Given the description of an element on the screen output the (x, y) to click on. 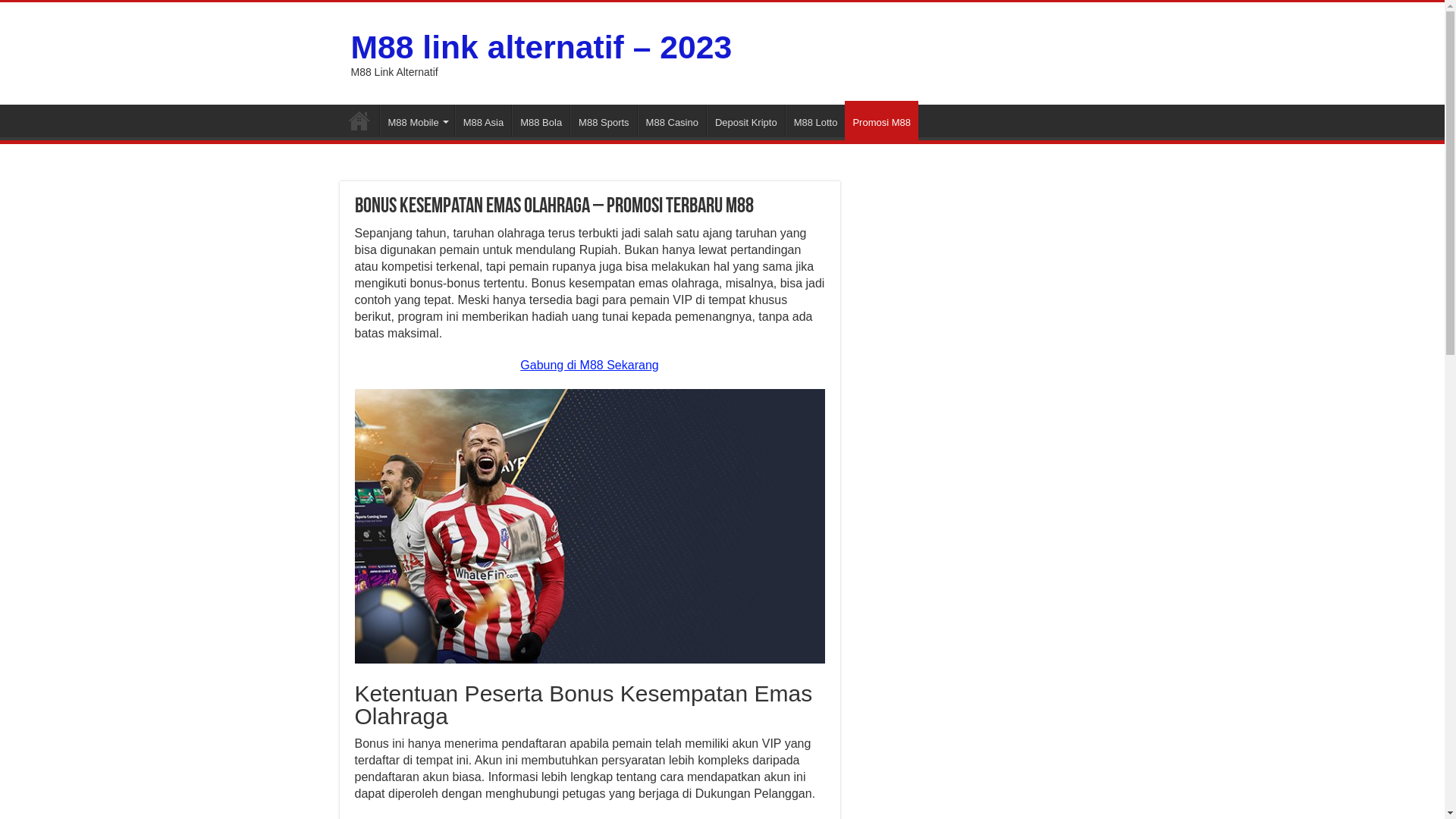
Promosi M88 Element type: text (881, 120)
M88 Element type: text (359, 120)
M88 Lotto Element type: text (815, 120)
M88 Casino Element type: text (671, 120)
Gabung di M88 Sekarang Element type: text (589, 364)
Deposit Kripto Element type: text (745, 120)
M88 Sports Element type: text (603, 120)
M88 Mobile Element type: text (416, 120)
M88 Asia Element type: text (483, 120)
M88 Bola Element type: text (540, 120)
